Given the description of an element on the screen output the (x, y) to click on. 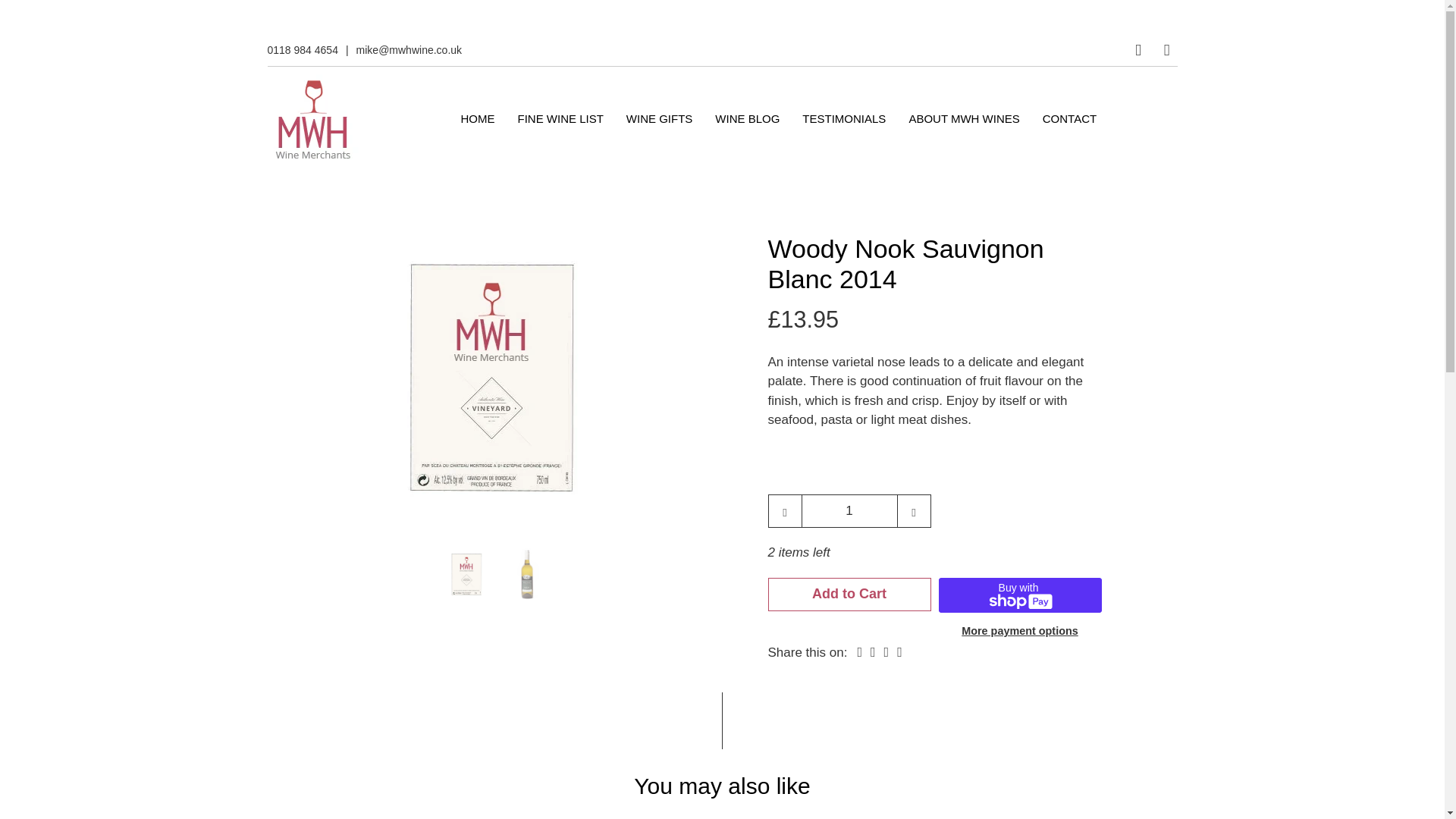
ABOUT MWH WINES (963, 119)
0118 984 4654 (301, 50)
Add to Cart (848, 594)
HOME (477, 119)
WINE BLOG (747, 119)
1 (848, 510)
TESTIMONIALS (843, 119)
FINE WINE LIST (559, 119)
More payment options (1019, 629)
WINE GIFTS (659, 119)
CONTACT (1069, 119)
